Given the description of an element on the screen output the (x, y) to click on. 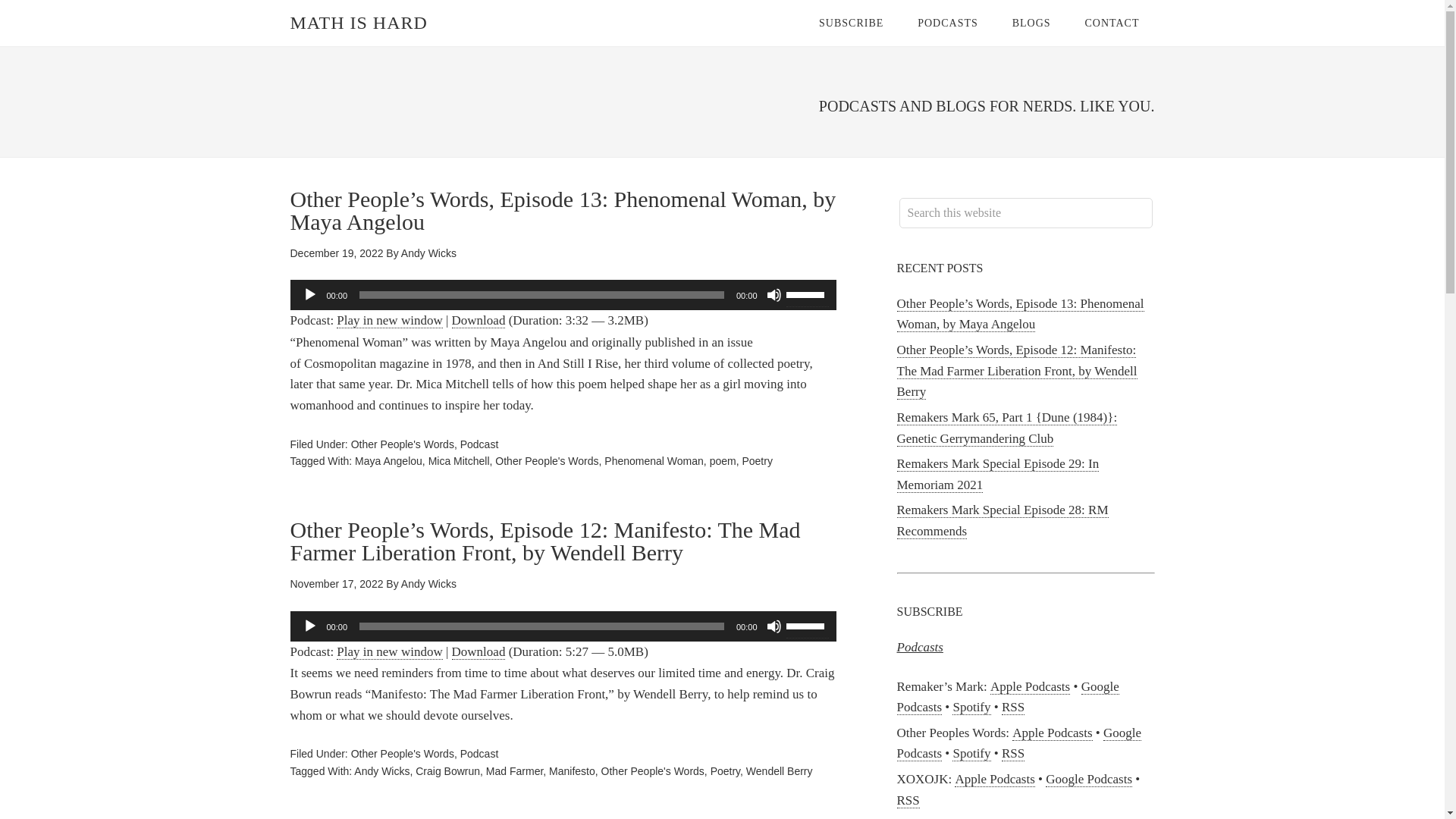
Download (478, 320)
PODCASTS (947, 22)
SUBSCRIBE (850, 22)
Other People's Words (546, 460)
Mute (772, 626)
Download (478, 652)
Play in new window (389, 320)
Mica Mitchell (458, 460)
Phenomenal Woman (653, 460)
Andy Wicks (429, 583)
Andy Wicks (429, 253)
CONTACT (1111, 22)
Play (309, 294)
